Given the description of an element on the screen output the (x, y) to click on. 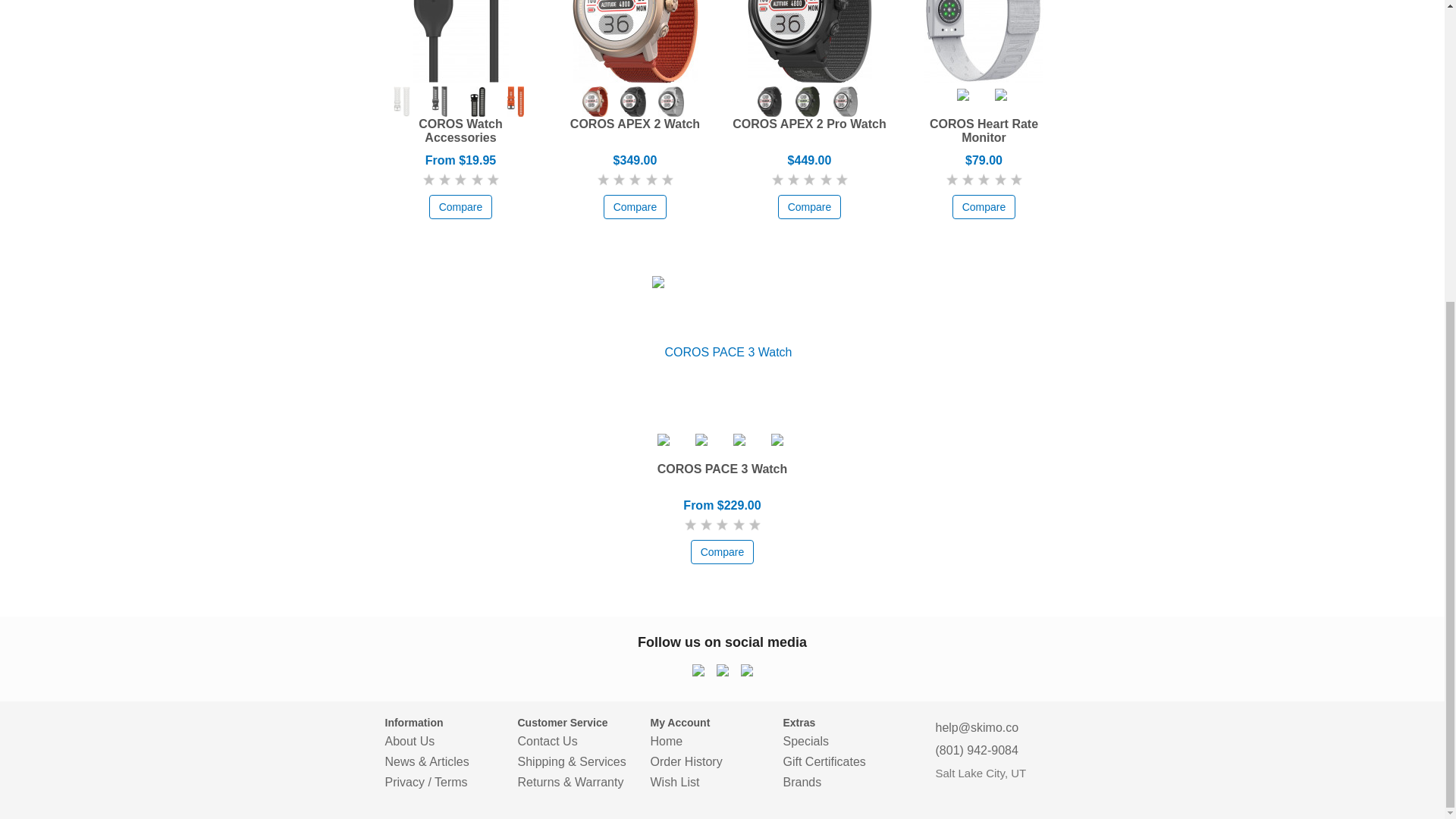
COROS APEX 2 Watch (634, 41)
COROS APEX 2 Pro Watch (810, 41)
COROS Heart Rate Monitor (983, 41)
COROS Watch Accessories (460, 41)
COROS PACE 3 Watch (722, 352)
